Given the description of an element on the screen output the (x, y) to click on. 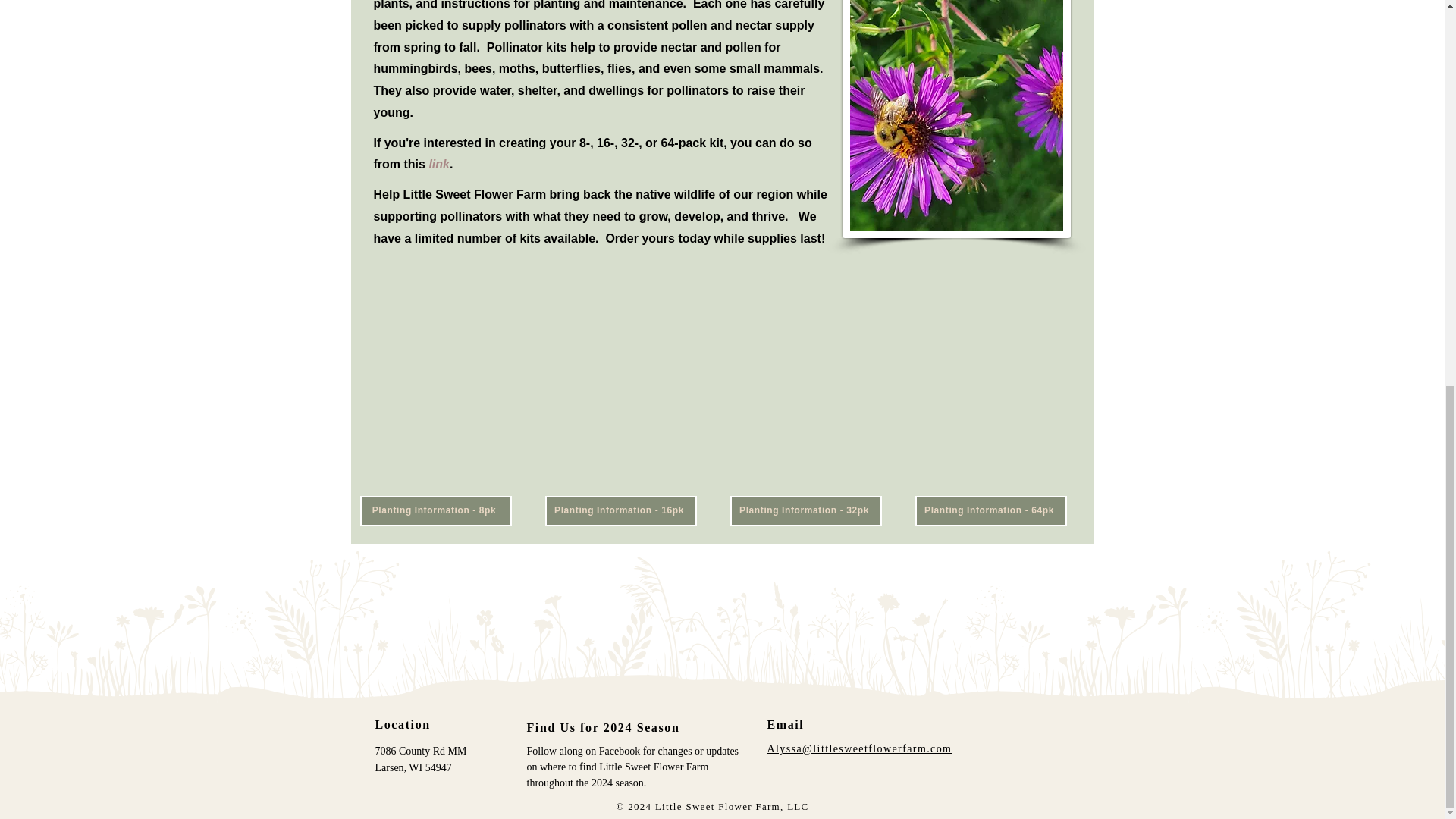
link (438, 164)
48351.jpeg (955, 119)
Planting Information - 16pk (619, 511)
Planting Information - 64pk (989, 511)
Planting Information - 32pk (804, 511)
Planting Information - 8pk (435, 511)
